Given the description of an element on the screen output the (x, y) to click on. 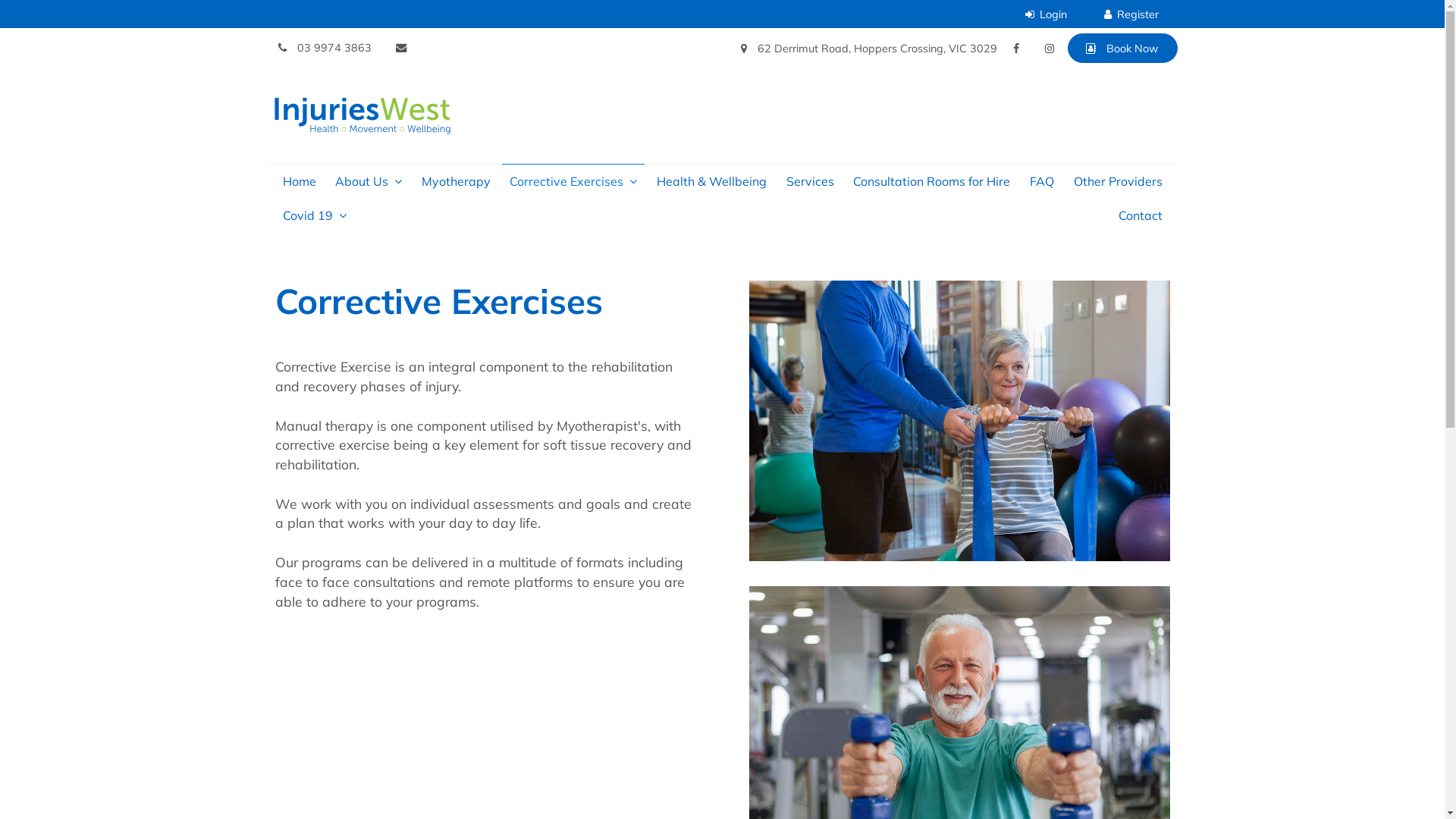
Other Providers Element type: text (1118, 181)
Services Element type: text (809, 181)
Consultation Rooms for Hire Element type: text (931, 181)
Health & Wellbeing Element type: text (711, 181)
Contact Element type: text (1139, 215)
Corrective Exercises Element type: text (573, 181)
62 Derrimut Road,
Hoppers Crossing, VIC 3029 Element type: text (868, 48)
Myotherapy Element type: text (456, 181)
Book Now Element type: text (1121, 47)
FAQ Element type: text (1041, 181)
Home Element type: text (298, 181)
Covid 19 Element type: text (313, 215)
About Us Element type: text (368, 181)
